Given the description of an element on the screen output the (x, y) to click on. 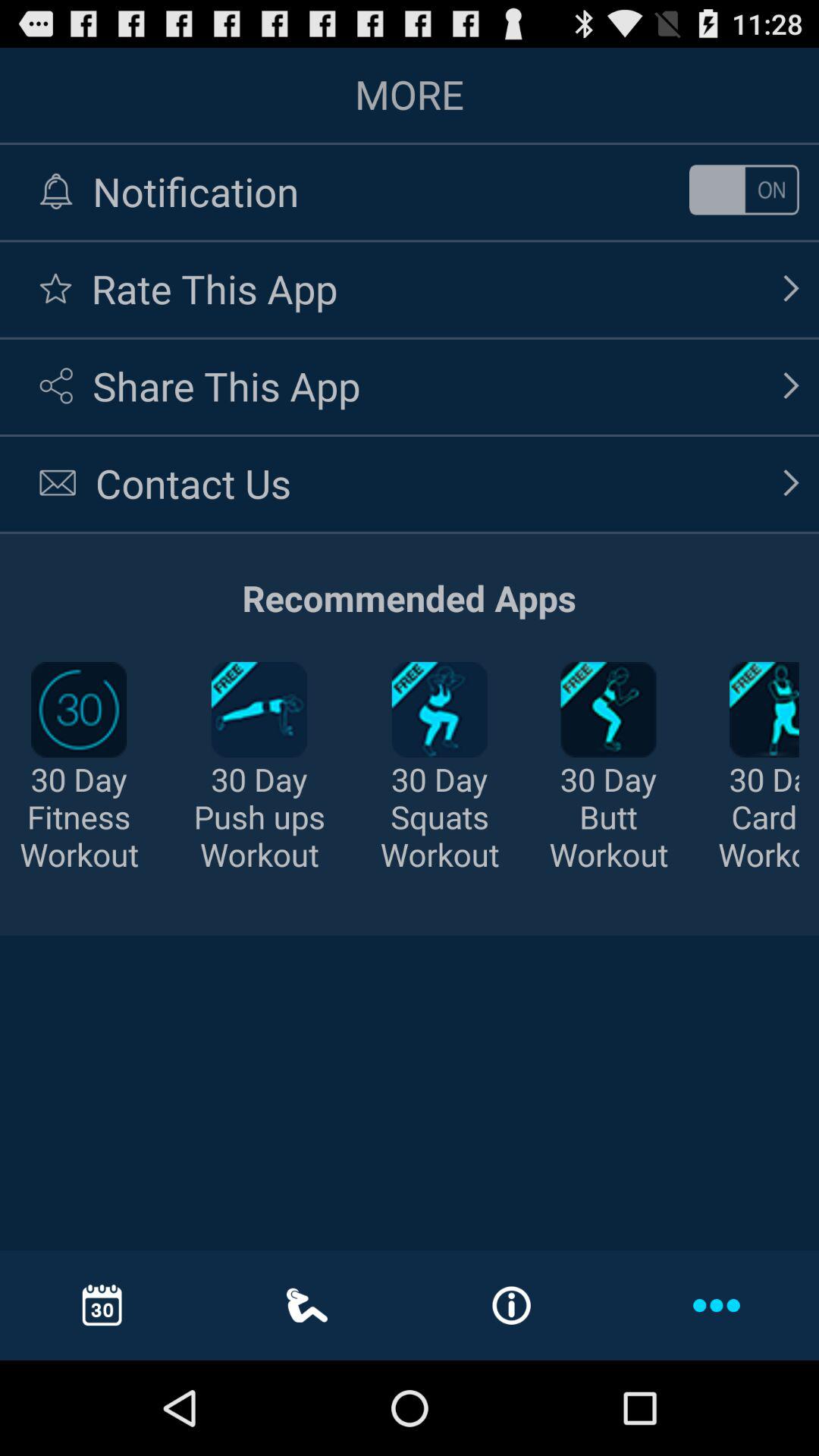
toggle on or off (744, 189)
